Given the description of an element on the screen output the (x, y) to click on. 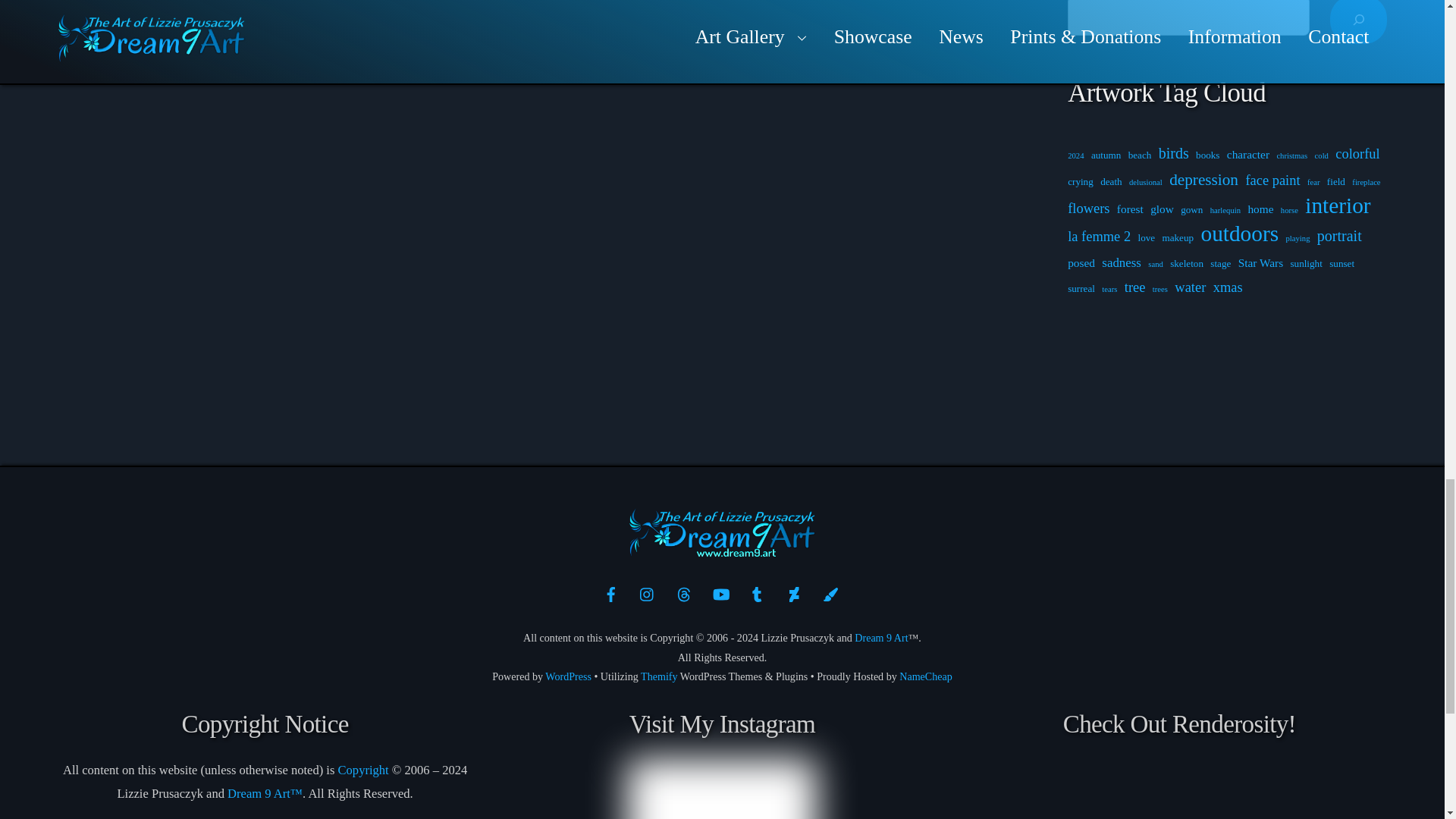
Dream 9 Art (721, 550)
